Given the description of an element on the screen output the (x, y) to click on. 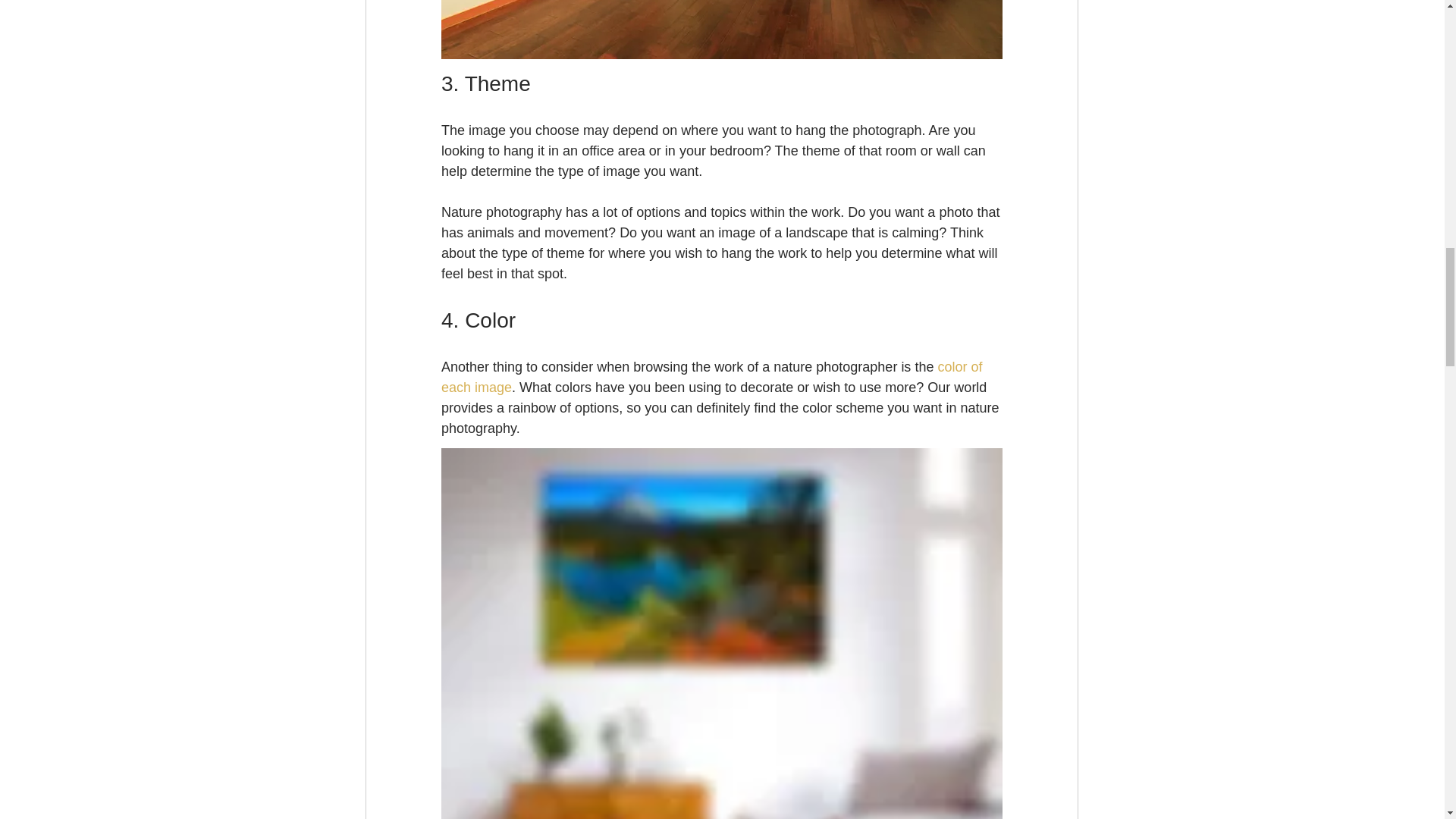
color of each image (713, 376)
